Given the description of an element on the screen output the (x, y) to click on. 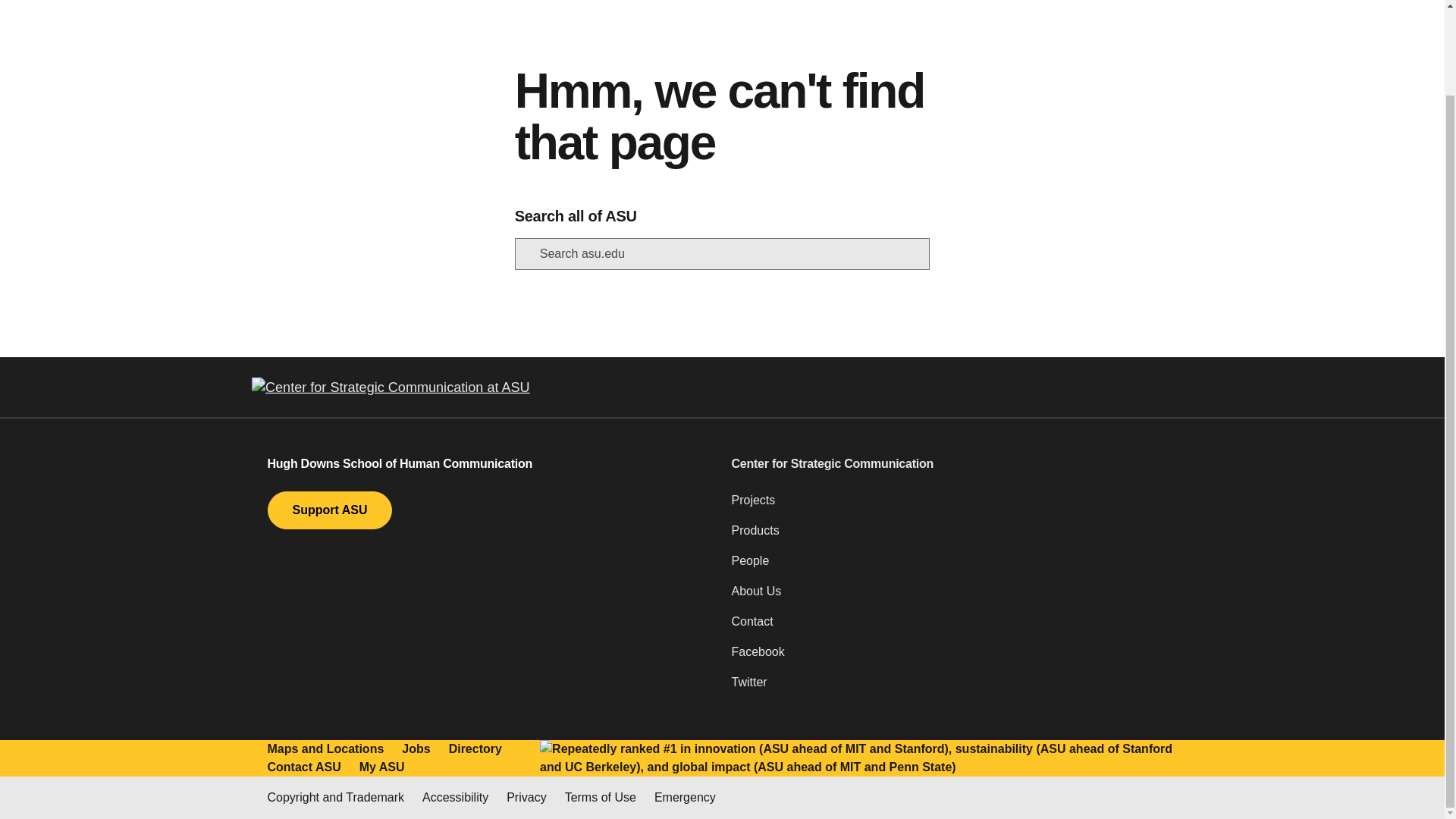
Accessibility (454, 797)
My ASU (381, 767)
Copyright and Trademark (335, 797)
Contact (953, 627)
Directory (475, 749)
Terms of Use (600, 797)
Contact ASU (303, 767)
Jobs (415, 749)
Privacy (526, 797)
Emergency (684, 797)
Products (953, 536)
Twitter (953, 688)
Support ASU (328, 510)
People (953, 567)
Maps and Locations (325, 749)
